Given the description of an element on the screen output the (x, y) to click on. 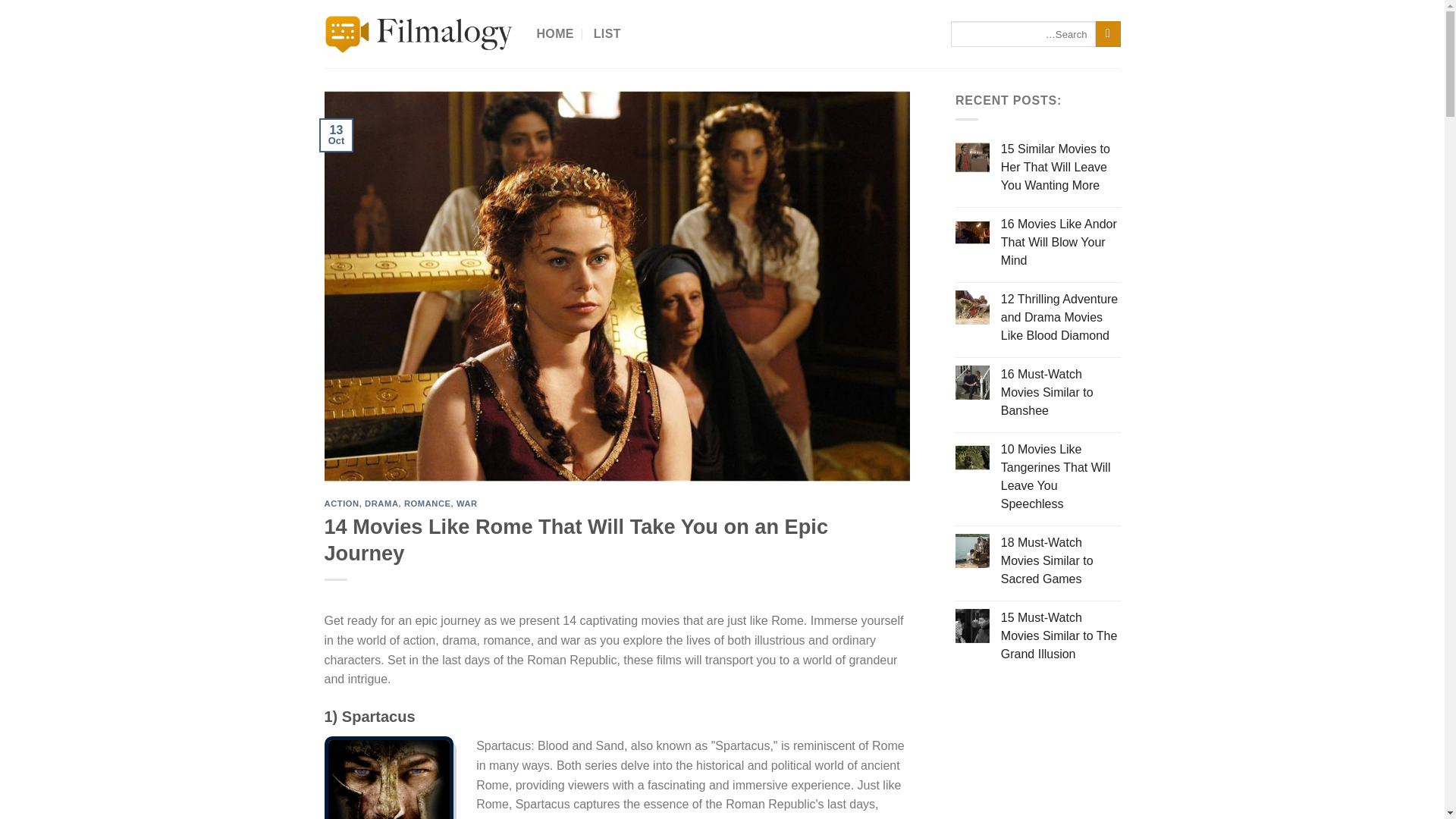
10 Movies Like Tangerines That Will Leave You Speechless (1061, 476)
15 Similar Movies to Her That Will Leave You Wanting More (1061, 167)
ROMANCE (427, 502)
15 Similar Movies to Her That Will Leave You Wanting More (1061, 167)
18 Must-Watch Movies Similar to Sacred Games (1061, 560)
16 Movies Like Andor That Will Blow Your Mind (1061, 242)
16 Must-Watch Movies Similar to Banshee (1061, 392)
WAR (467, 502)
18 Must-Watch Movies Similar to Sacred Games (1061, 560)
10 Movies Like Tangerines That Will Leave You Speechless (1061, 476)
16 Movies Like Andor That Will Blow Your Mind (1061, 242)
Filmalogy (418, 34)
12 Thrilling Adventure and Drama Movies Like Blood Diamond (1061, 317)
15 Must-Watch Movies Similar to The Grand Illusion (1061, 636)
HOME (555, 33)
